Given the description of an element on the screen output the (x, y) to click on. 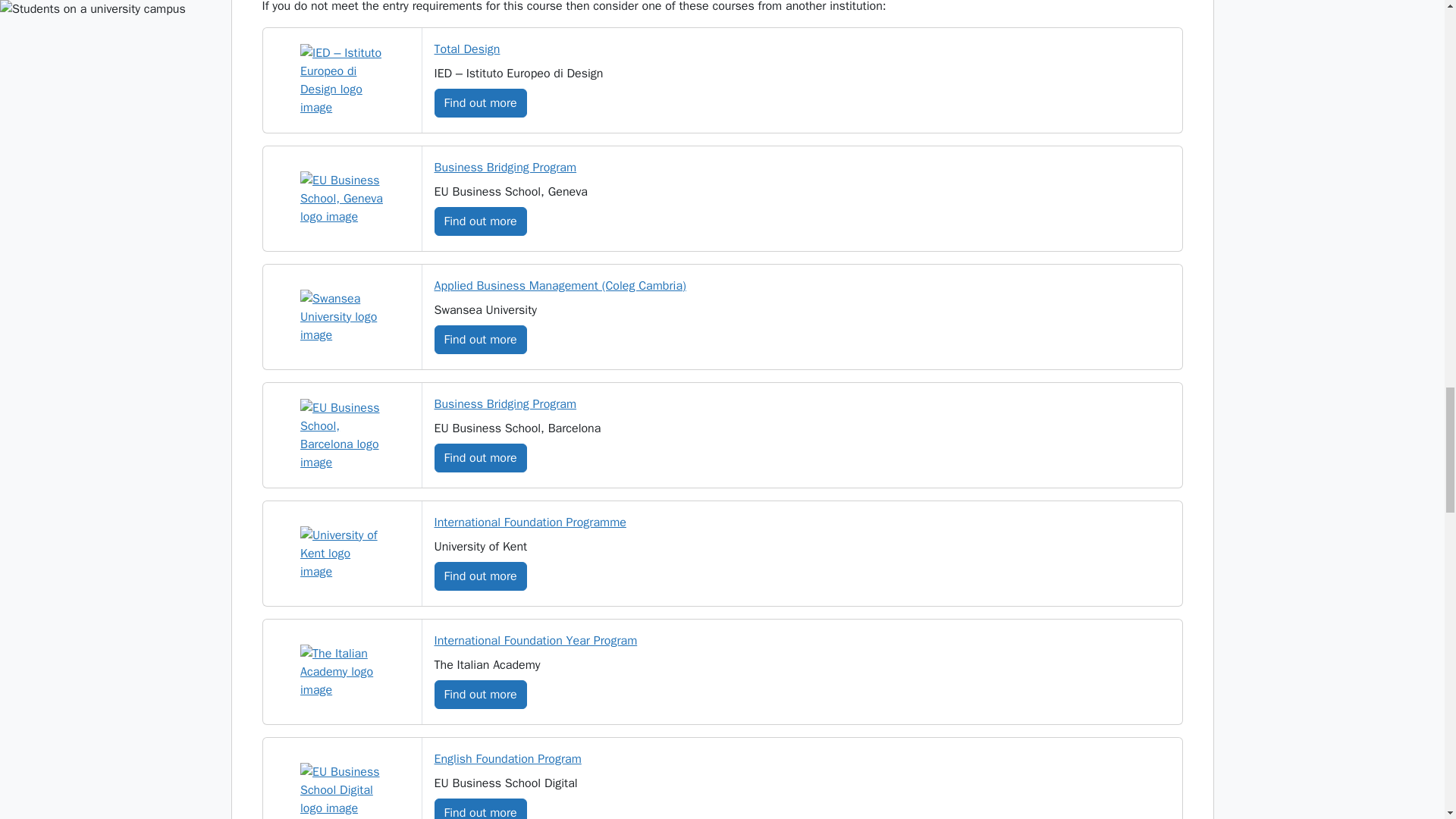
EU Business School, Barcelona (341, 434)
The Italian Academy (341, 671)
EU Business School Digital (341, 789)
University of Kent (341, 553)
EU Business School, Geneva (341, 198)
Swansea University (341, 316)
